Given the description of an element on the screen output the (x, y) to click on. 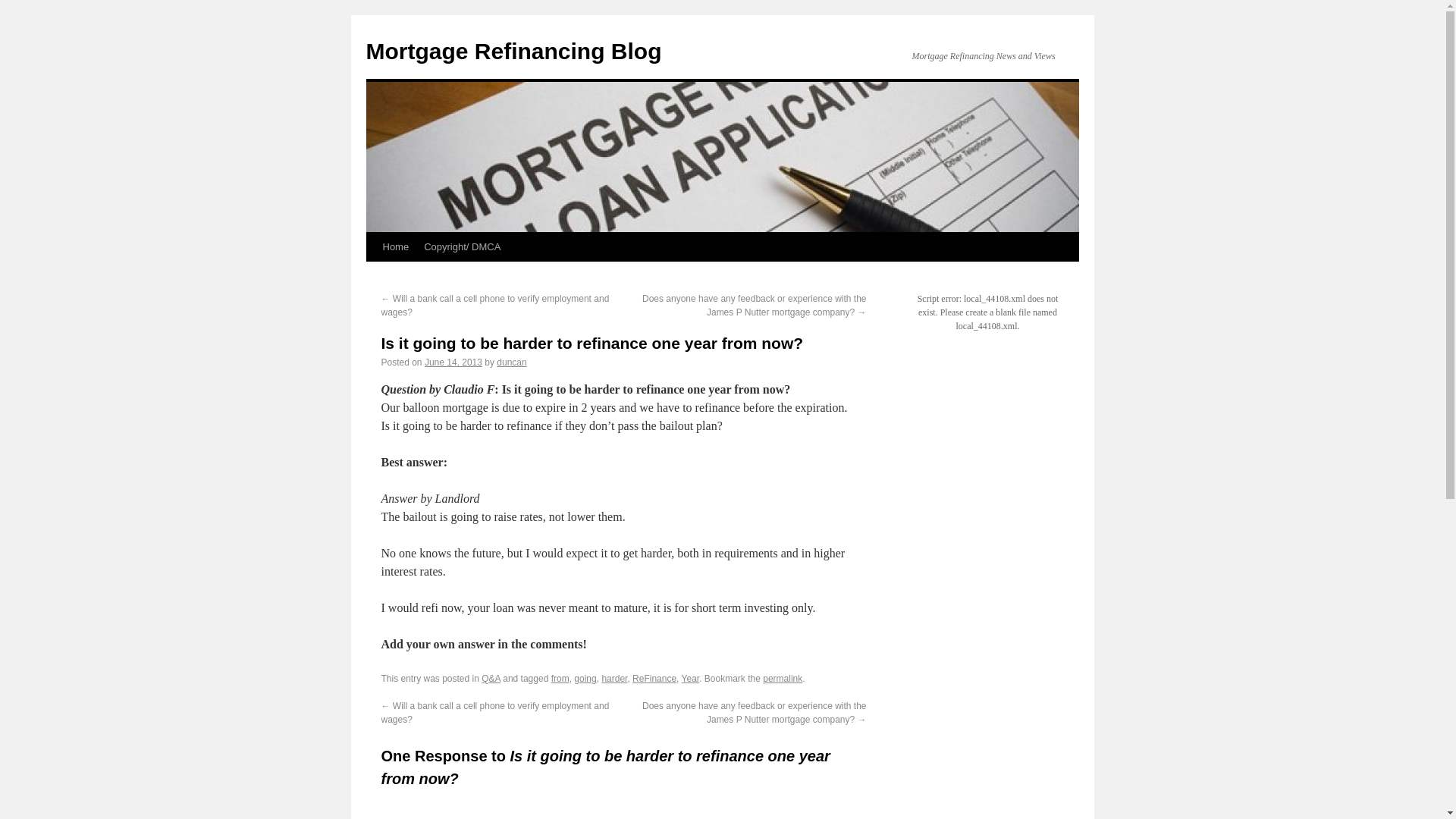
Home (395, 246)
View all posts by duncan (510, 362)
duncan (510, 362)
from (560, 678)
2:28 am (453, 362)
permalink (782, 678)
going (584, 678)
Mortgage Refinancing Blog (513, 50)
June 14, 2013 (453, 362)
harder (614, 678)
Mortgage Refinancing Blog (513, 50)
Year (690, 678)
ReFinance (654, 678)
